Given the description of an element on the screen output the (x, y) to click on. 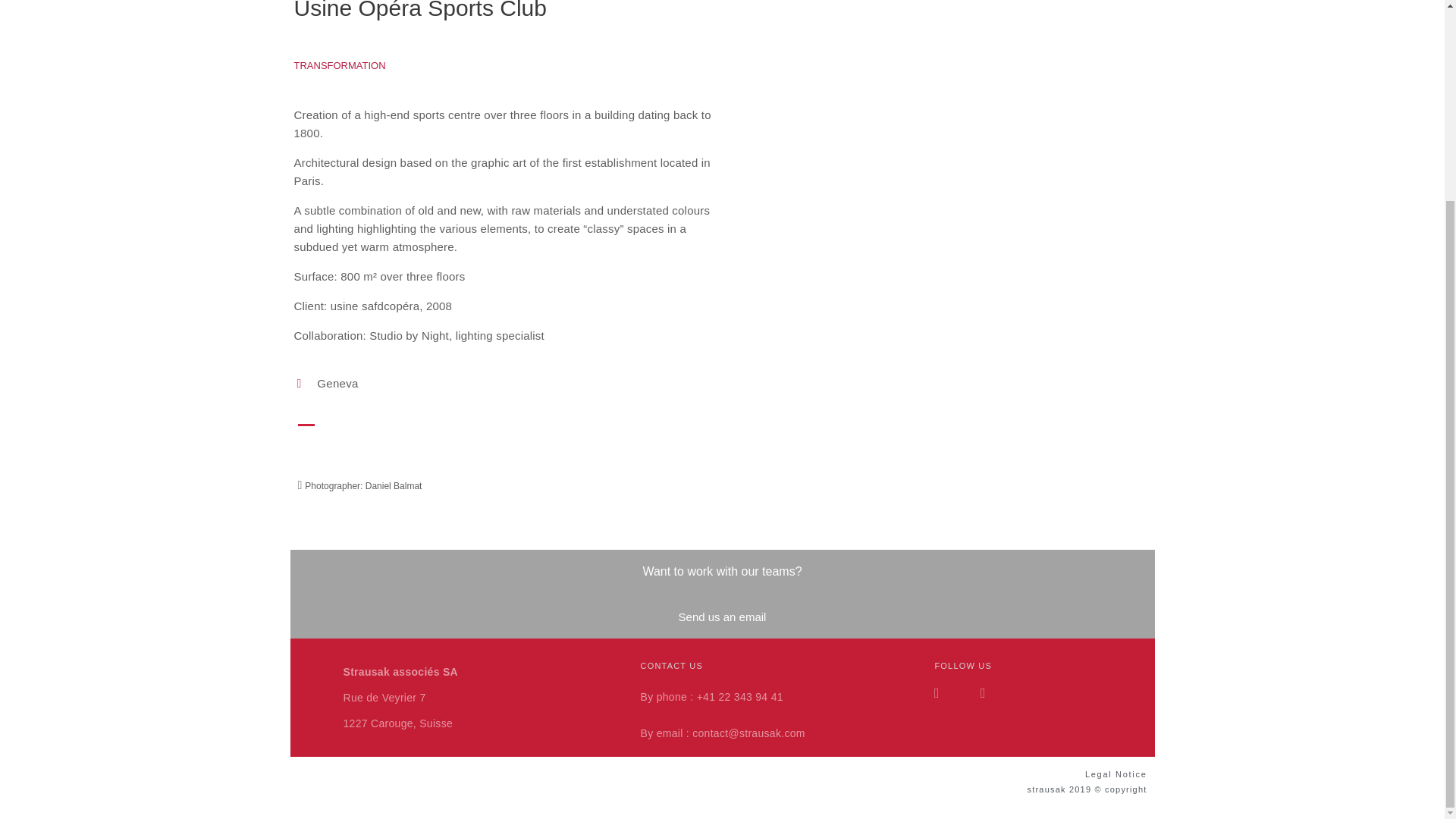
Page 2 (722, 790)
Send us an email (722, 616)
Legal Notice (1115, 773)
